Given the description of an element on the screen output the (x, y) to click on. 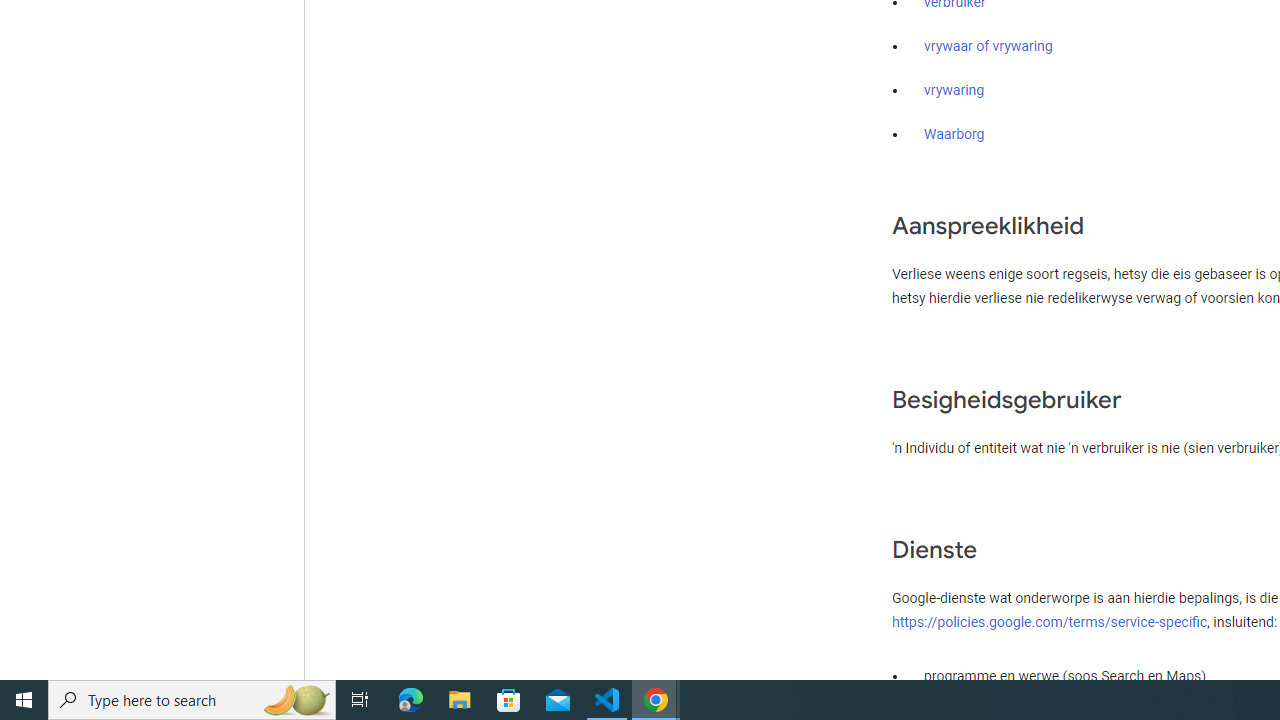
Waarborg (954, 134)
https://policies.google.com/terms/service-specific (1050, 621)
vrywaar of vrywaring (988, 47)
vrywaring (954, 91)
